Given the description of an element on the screen output the (x, y) to click on. 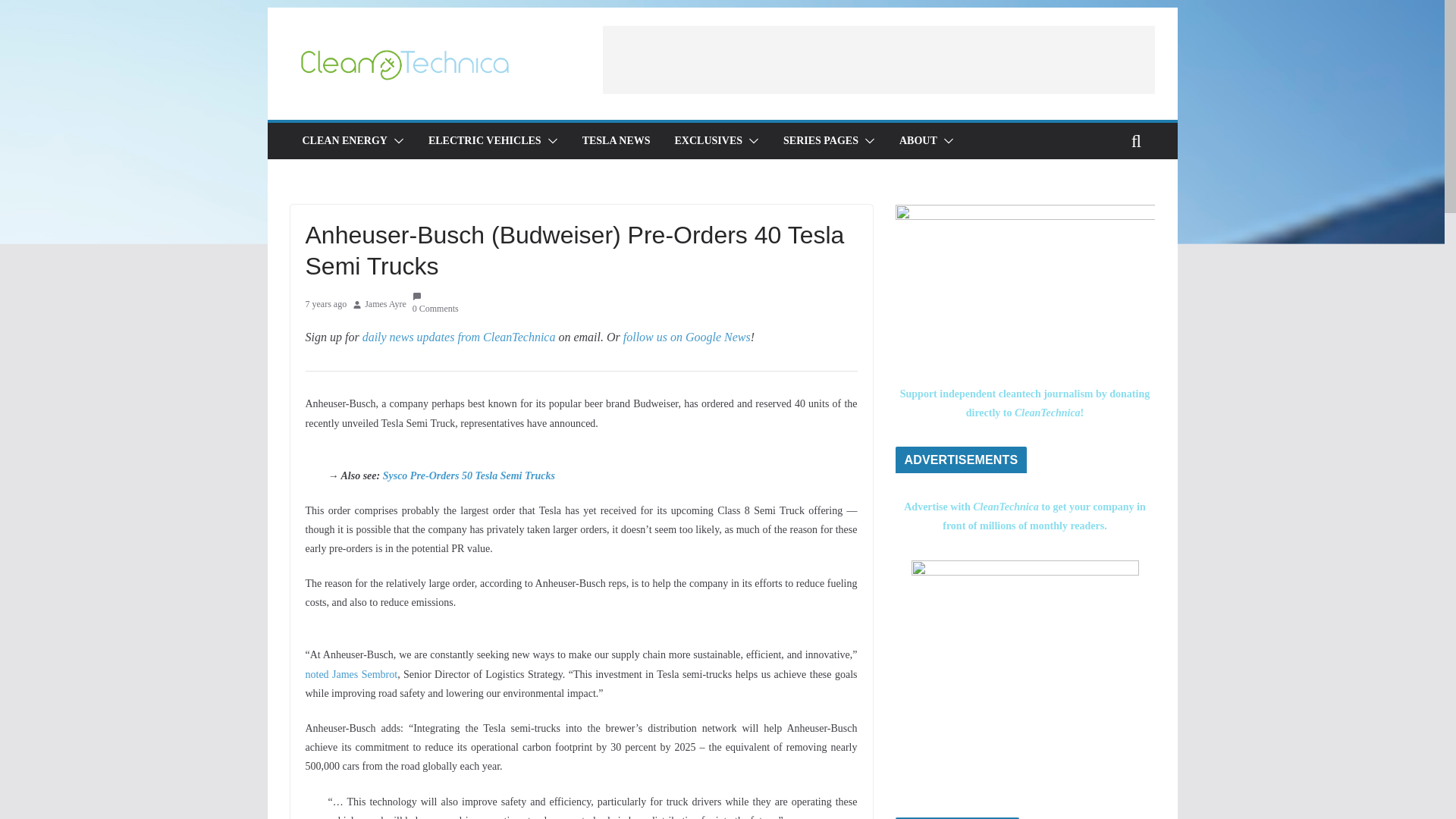
SERIES PAGES (821, 140)
ELECTRIC VEHICLES (484, 140)
James Ayre (385, 304)
TESLA NEWS (616, 140)
CLEAN ENERGY (344, 140)
EXCLUSIVES (708, 140)
